Given the description of an element on the screen output the (x, y) to click on. 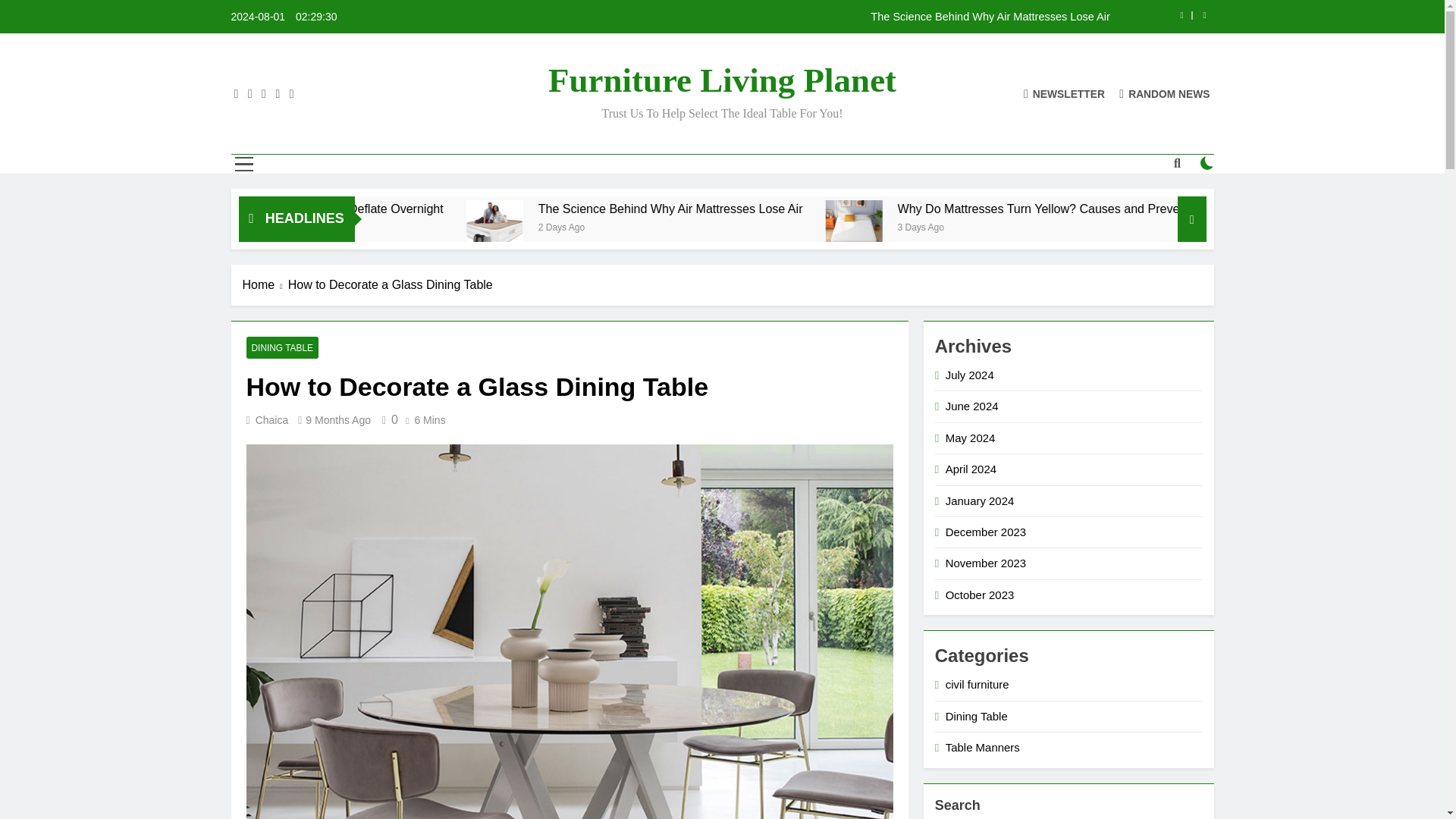
Furniture Living Planet (722, 80)
Why Do Mattresses Turn Yellow? Causes and Prevention Tips (1000, 228)
The Science Behind Why Air Mattresses Lose Air (820, 208)
on (1206, 162)
Understanding Why Air Mattresses Deflate Overnight (510, 208)
Understanding Why Air Mattresses Deflate Overnight (459, 208)
15 Hours Ago (392, 226)
The Science Behind Why Air Mattresses Lose Air (651, 228)
The Science Behind Why Air Mattresses Lose Air (873, 208)
2 Days Ago (761, 226)
The Science Behind Why Air Mattresses Lose Air (648, 228)
RANDOM NEWS (1164, 92)
Why Do Mattresses Turn Yellow? Causes and Prevention Tips (1259, 208)
The Science Behind Why Air Mattresses Lose Air (817, 16)
3 Days Ago (1112, 226)
